Given the description of an element on the screen output the (x, y) to click on. 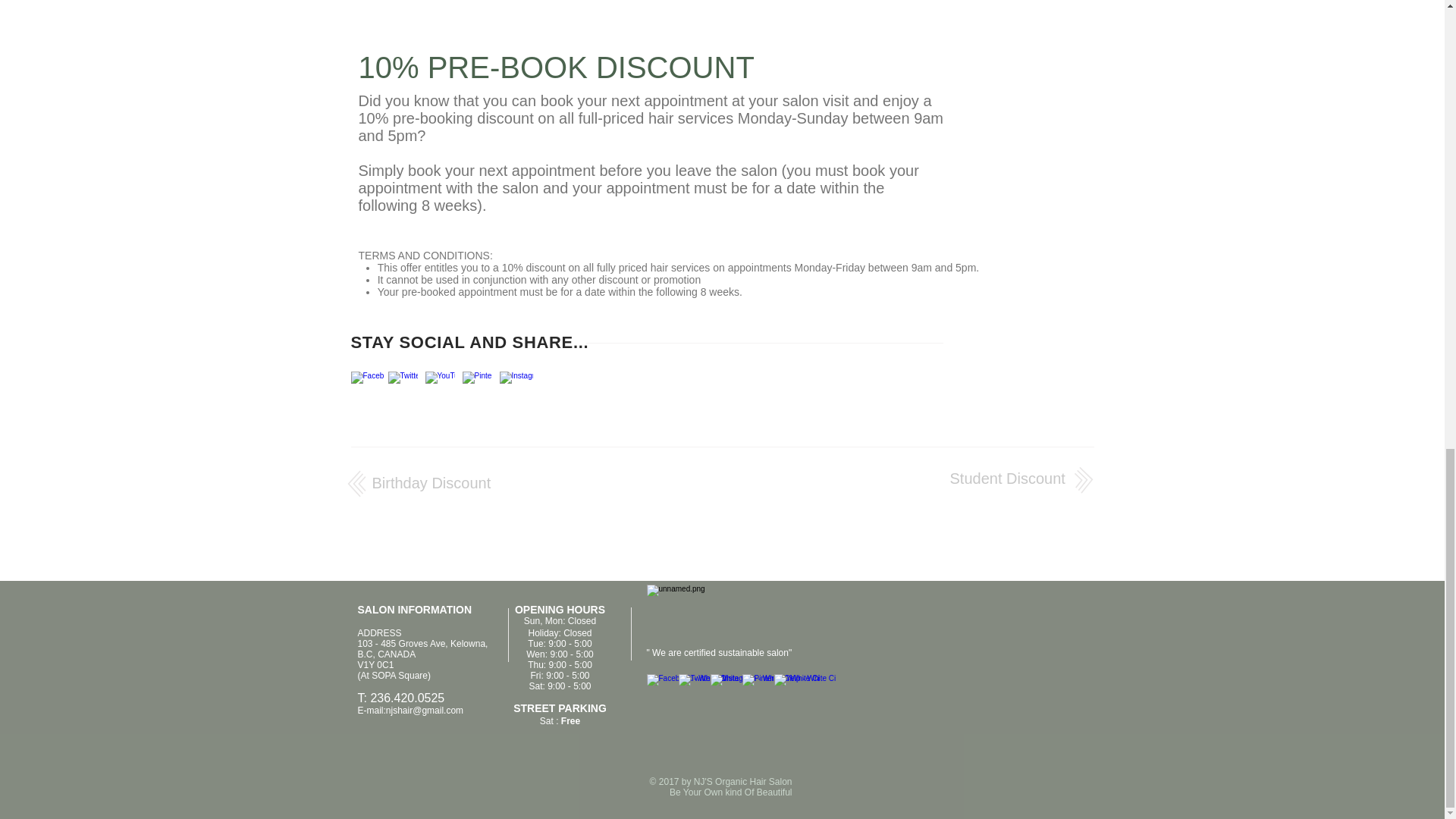
Student Discount (1006, 478)
Birthday Discount (430, 483)
